Given the description of an element on the screen output the (x, y) to click on. 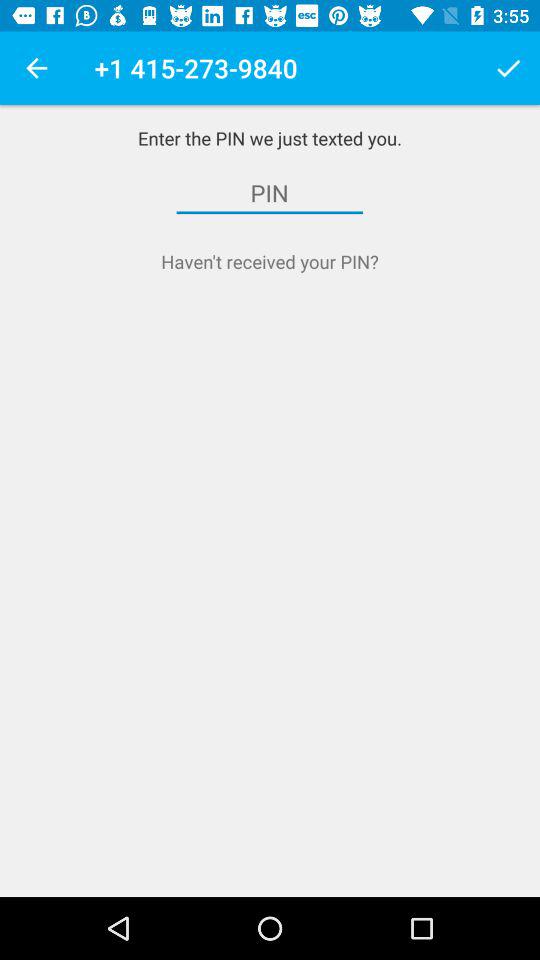
tap the app next to 1 415 273 (508, 67)
